Given the description of an element on the screen output the (x, y) to click on. 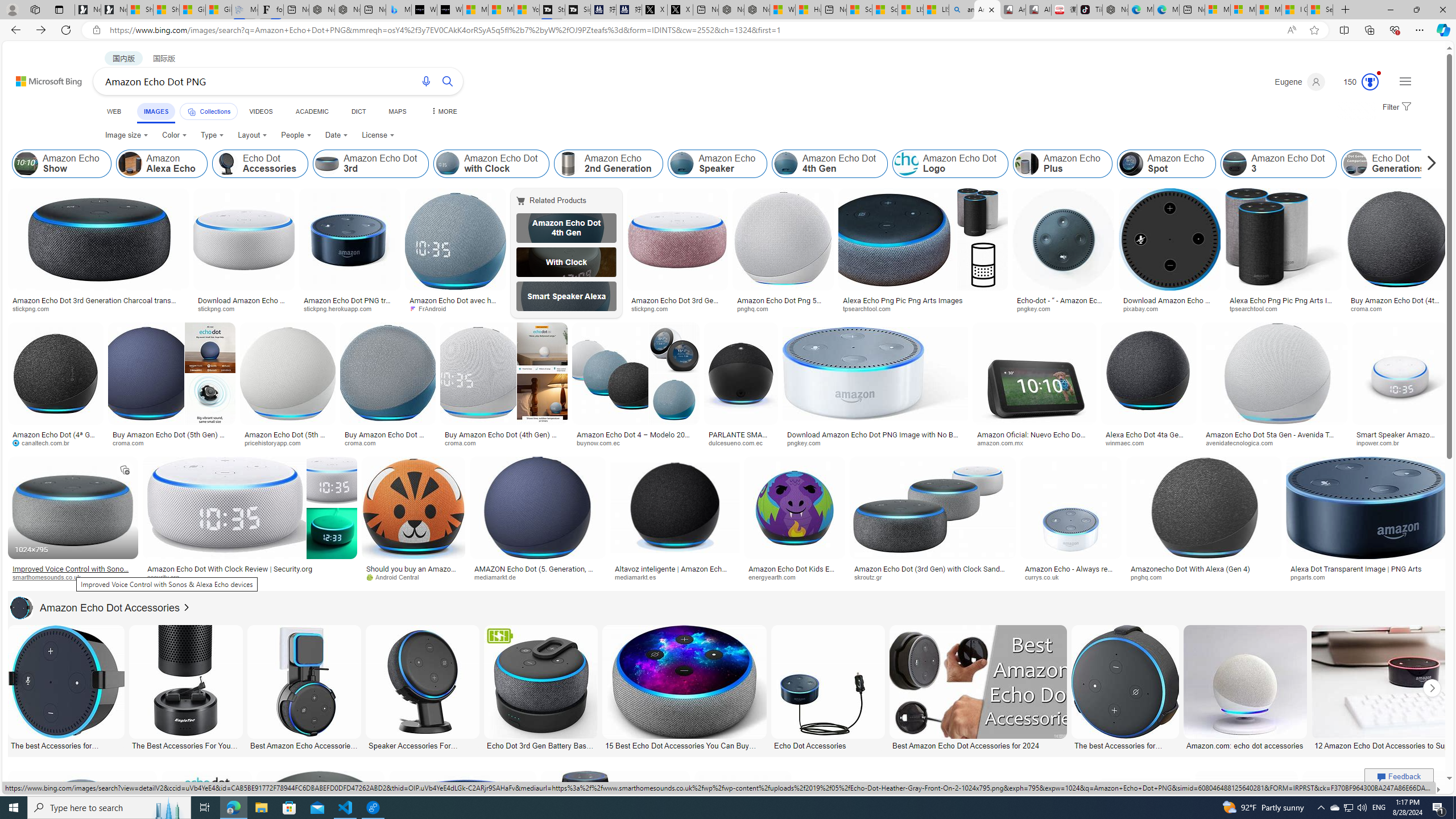
Layout (253, 135)
Forward (40, 29)
Amazon Echo 2nd Generation (568, 163)
dulcesueno.com.ec (739, 442)
ACADEMIC (311, 111)
Echo Dot with Clock (565, 261)
